Given the description of an element on the screen output the (x, y) to click on. 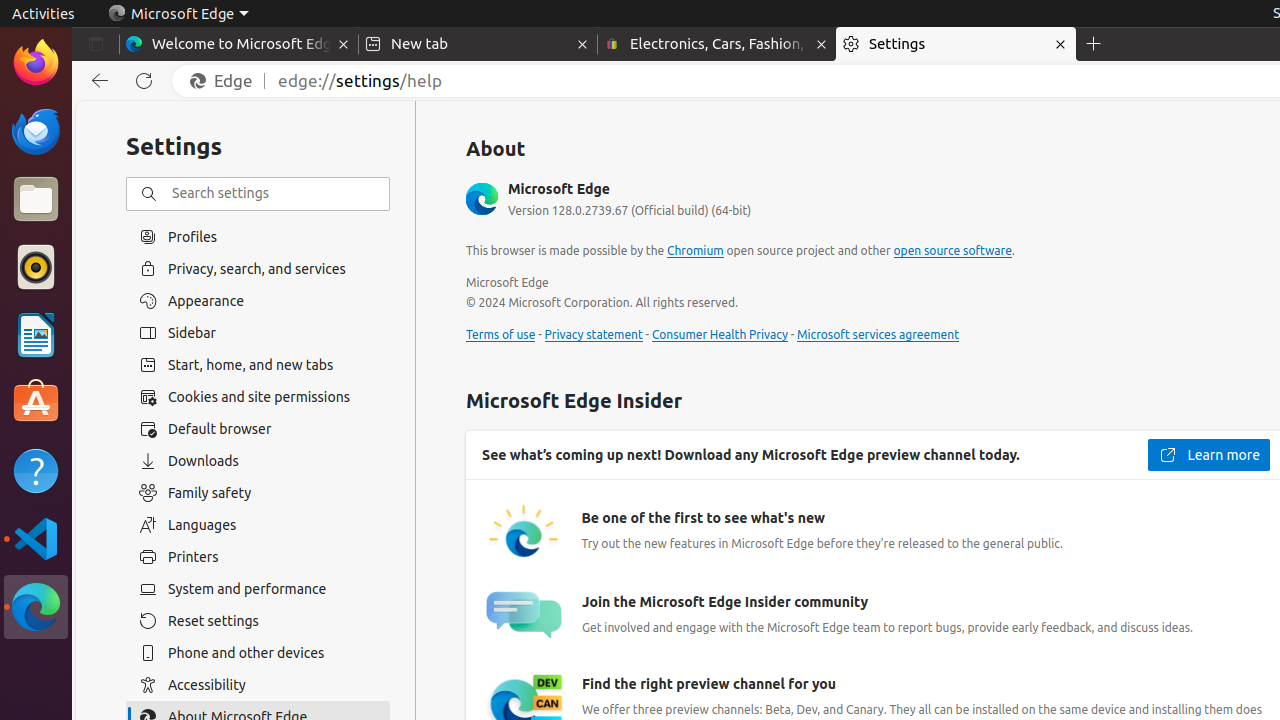
Visual Studio Code Element type: push-button (36, 538)
Ubuntu Software Element type: push-button (36, 402)
Refresh Element type: push-button (144, 81)
Profiles Element type: tree-item (258, 236)
Sidebar Element type: tree-item (258, 333)
